Given the description of an element on the screen output the (x, y) to click on. 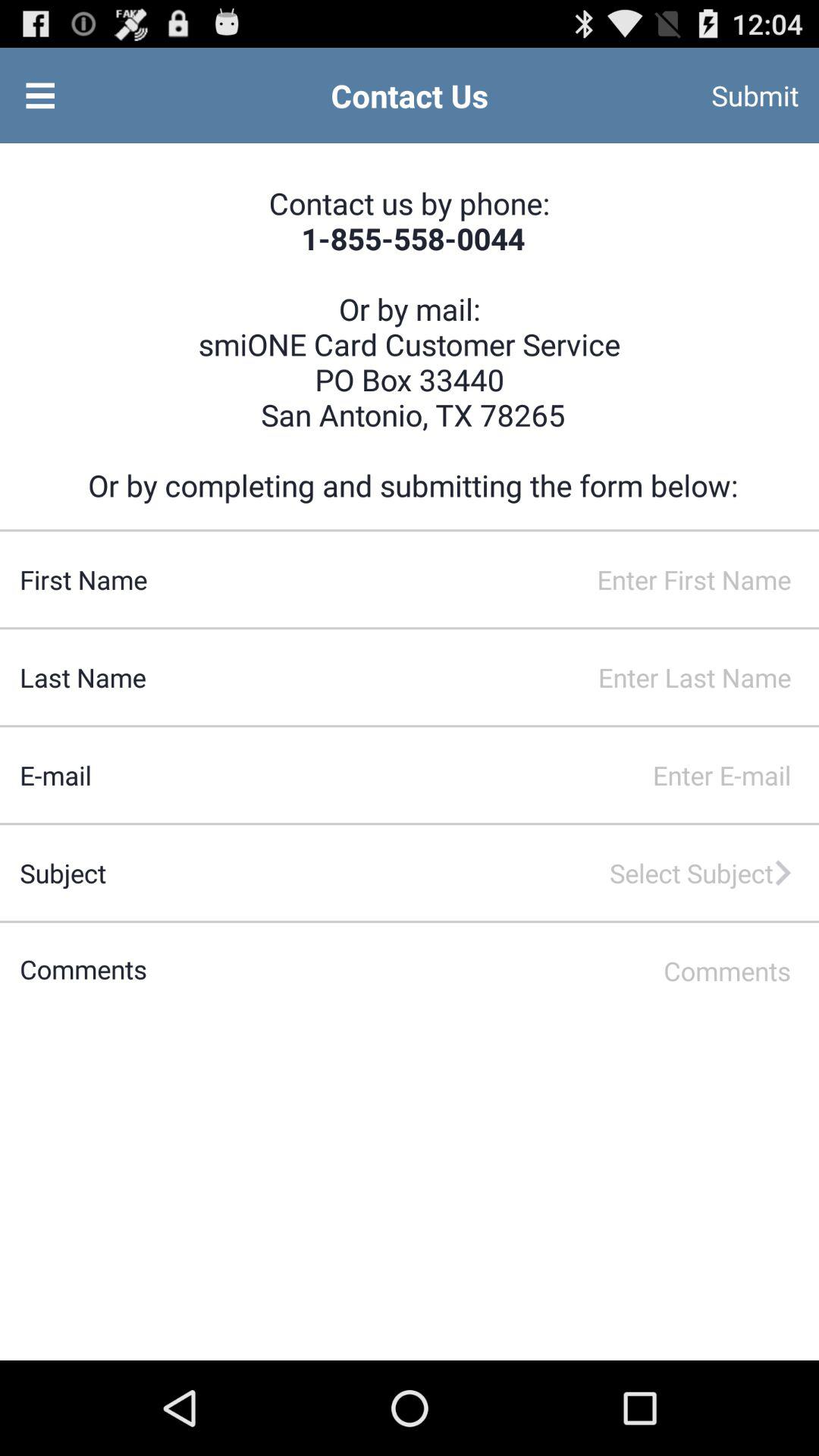
select enter last name (482, 677)
click on the comments field (483, 969)
select the text box which says enter first name (483, 579)
click on the submit which is below the time (735, 95)
